Given the description of an element on the screen output the (x, y) to click on. 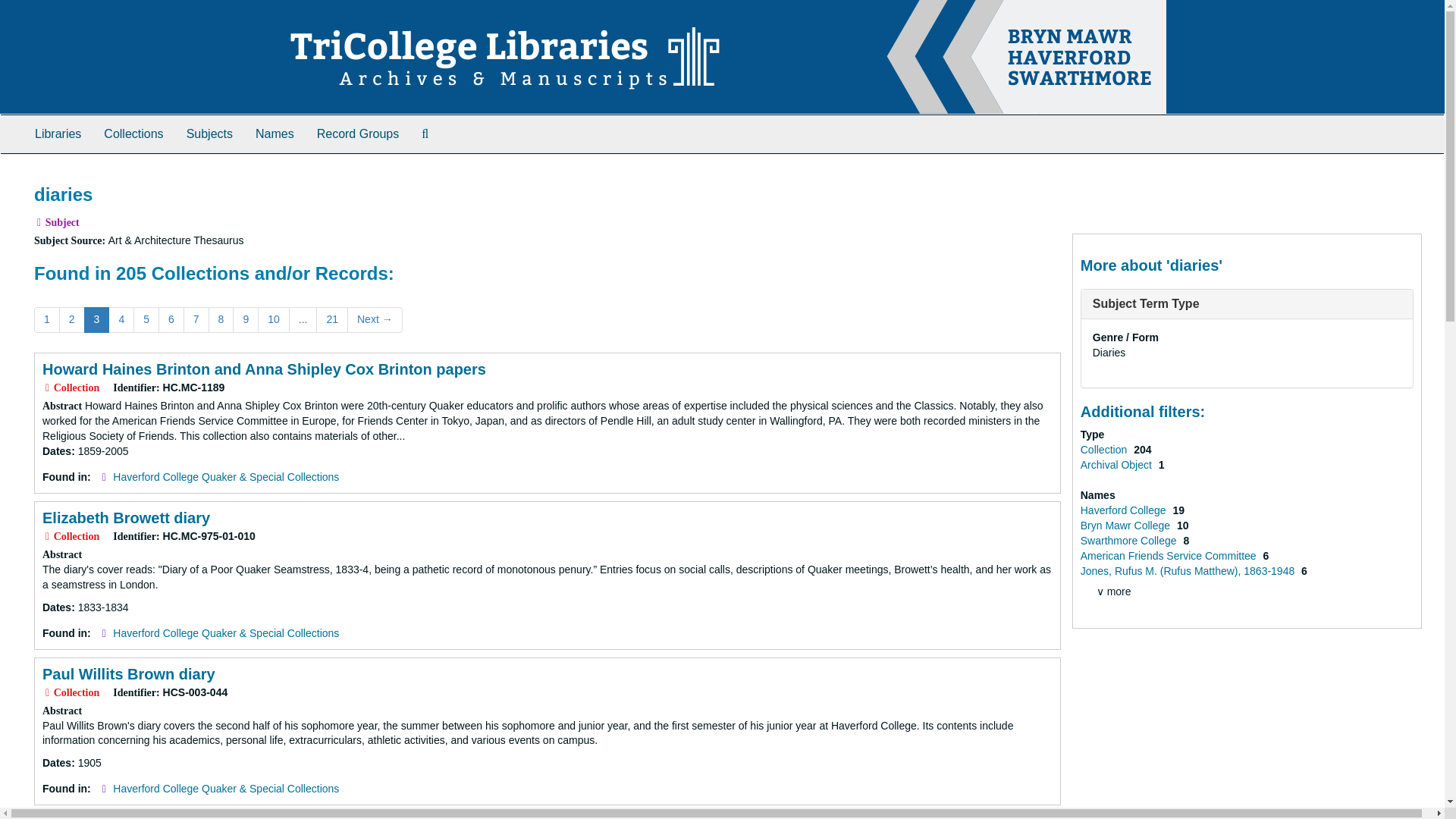
Filter By 'Haverford College' (1124, 510)
Filter By 'Collection' (1104, 449)
Filter By 'Archival Object' (1117, 464)
Paul Willits Brown diary (128, 673)
2 (71, 319)
Libraries (58, 134)
Filter By 'American Friends Service Committee' (1169, 555)
Collections (133, 134)
Names (274, 134)
5 (145, 319)
9 (245, 319)
Howard Haines Brinton and Anna Shipley Cox Brinton papers (264, 369)
... (302, 319)
Subjects (209, 134)
21 (331, 319)
